Given the description of an element on the screen output the (x, y) to click on. 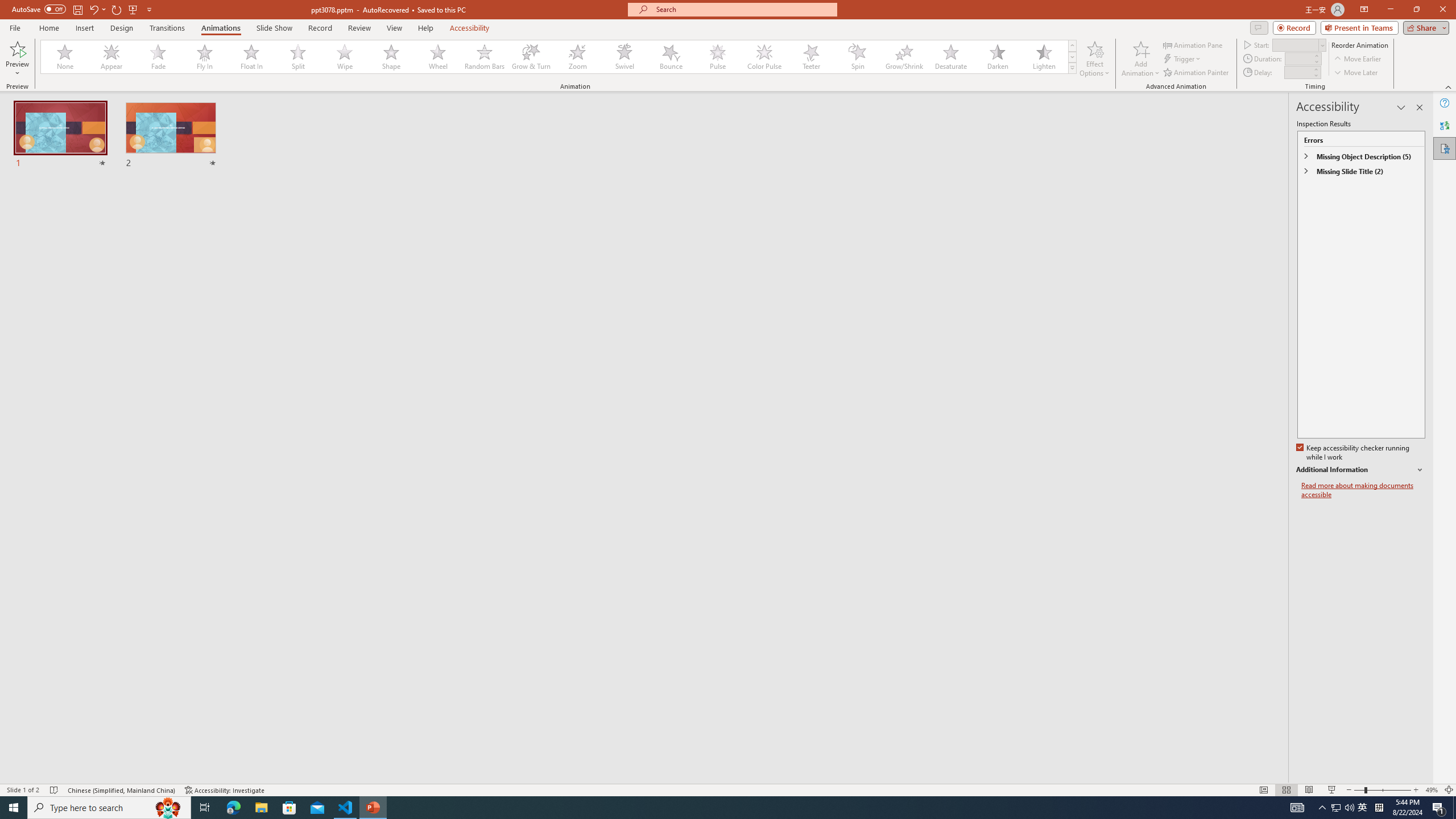
Zoom (577, 56)
Appear (111, 56)
Float In (251, 56)
Home (48, 28)
Animation Duration (1298, 58)
Normal (1263, 790)
Undo (92, 9)
Close pane (1419, 107)
Grow & Turn (531, 56)
Keep accessibility checker running while I work (1353, 452)
Move Later (1355, 72)
Wipe (344, 56)
Slide Show (1331, 790)
Animation Delay (1297, 72)
